Given the description of an element on the screen output the (x, y) to click on. 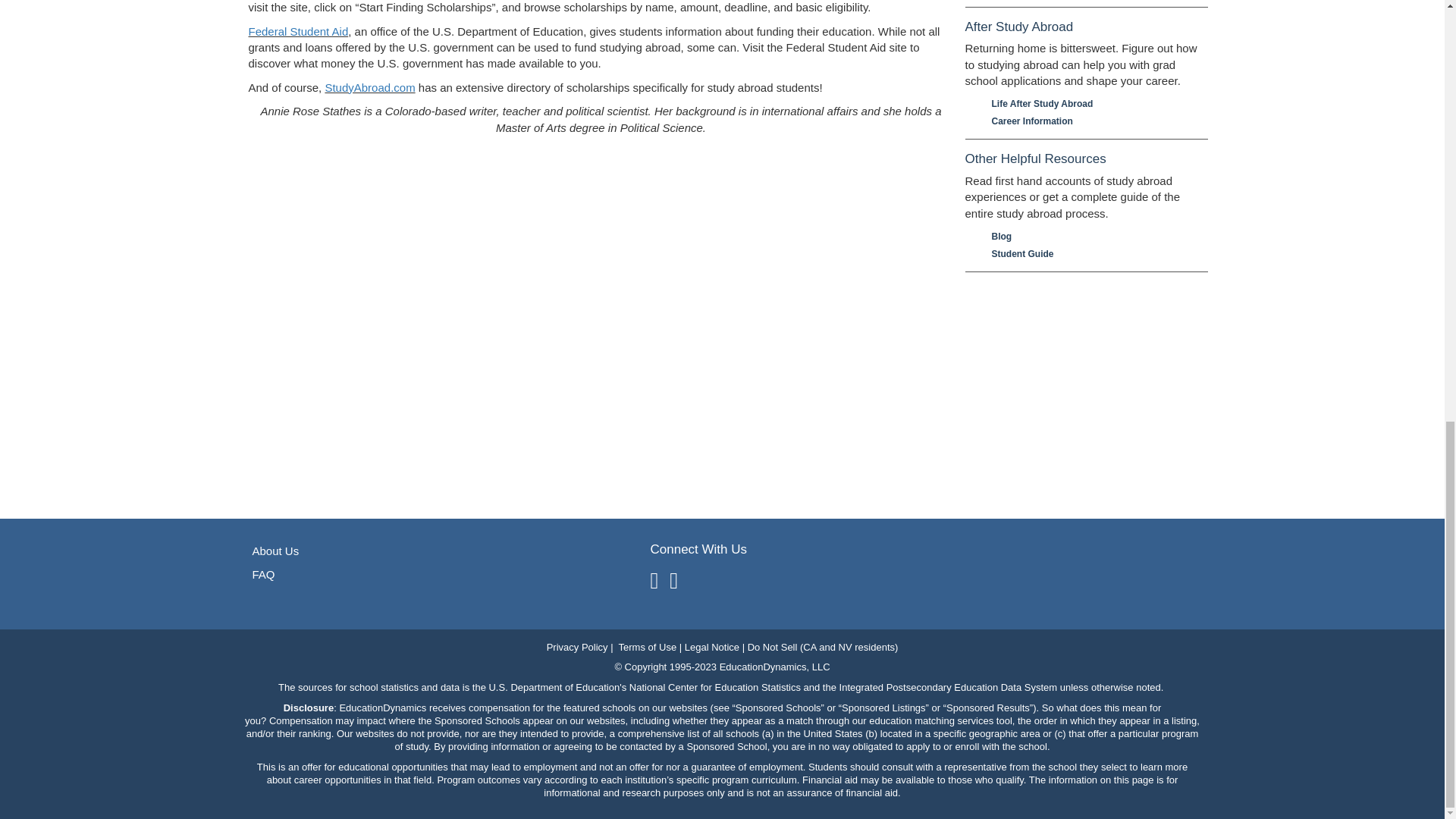
Federal Student Aid (298, 31)
StudyAbroad.com (369, 87)
